Given the description of an element on the screen output the (x, y) to click on. 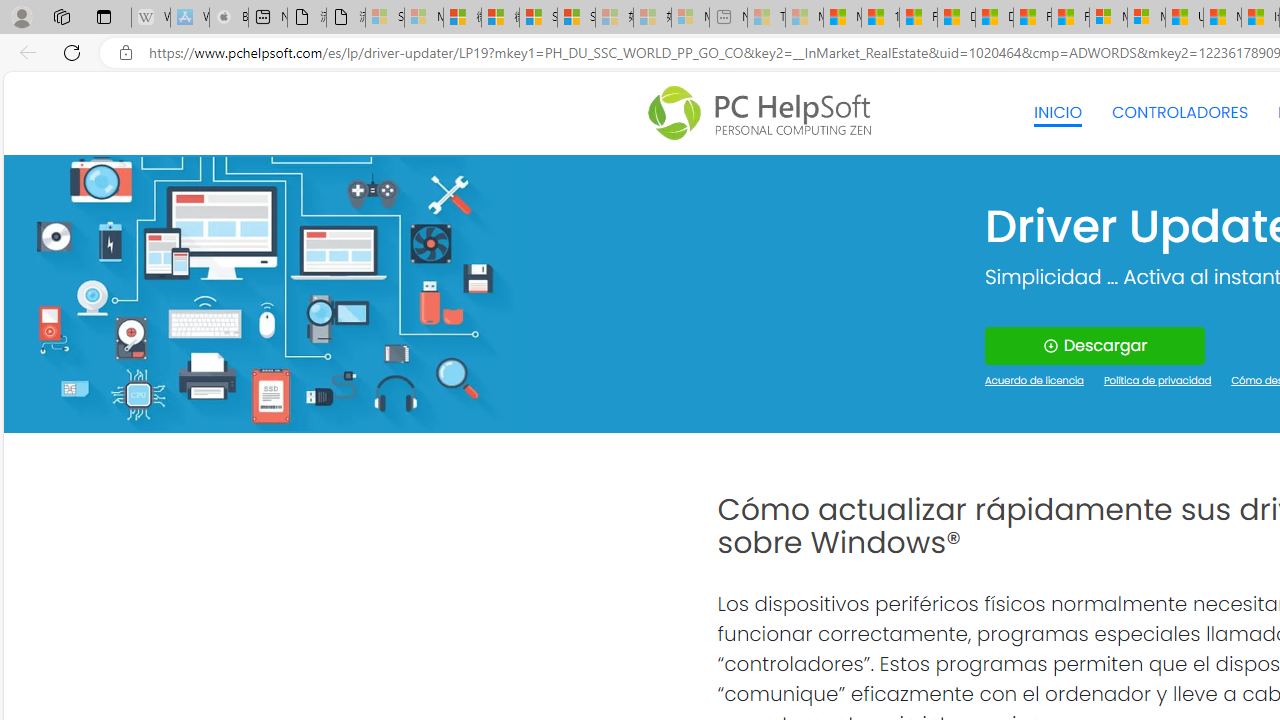
Foo BAR | Trusted Community Engagement and Contributions (1070, 17)
Marine life - MSN - Sleeping (804, 17)
Logo Personal Computing (765, 113)
INICIO (1057, 112)
Download Icon Descargar (1094, 345)
